Given the description of an element on the screen output the (x, y) to click on. 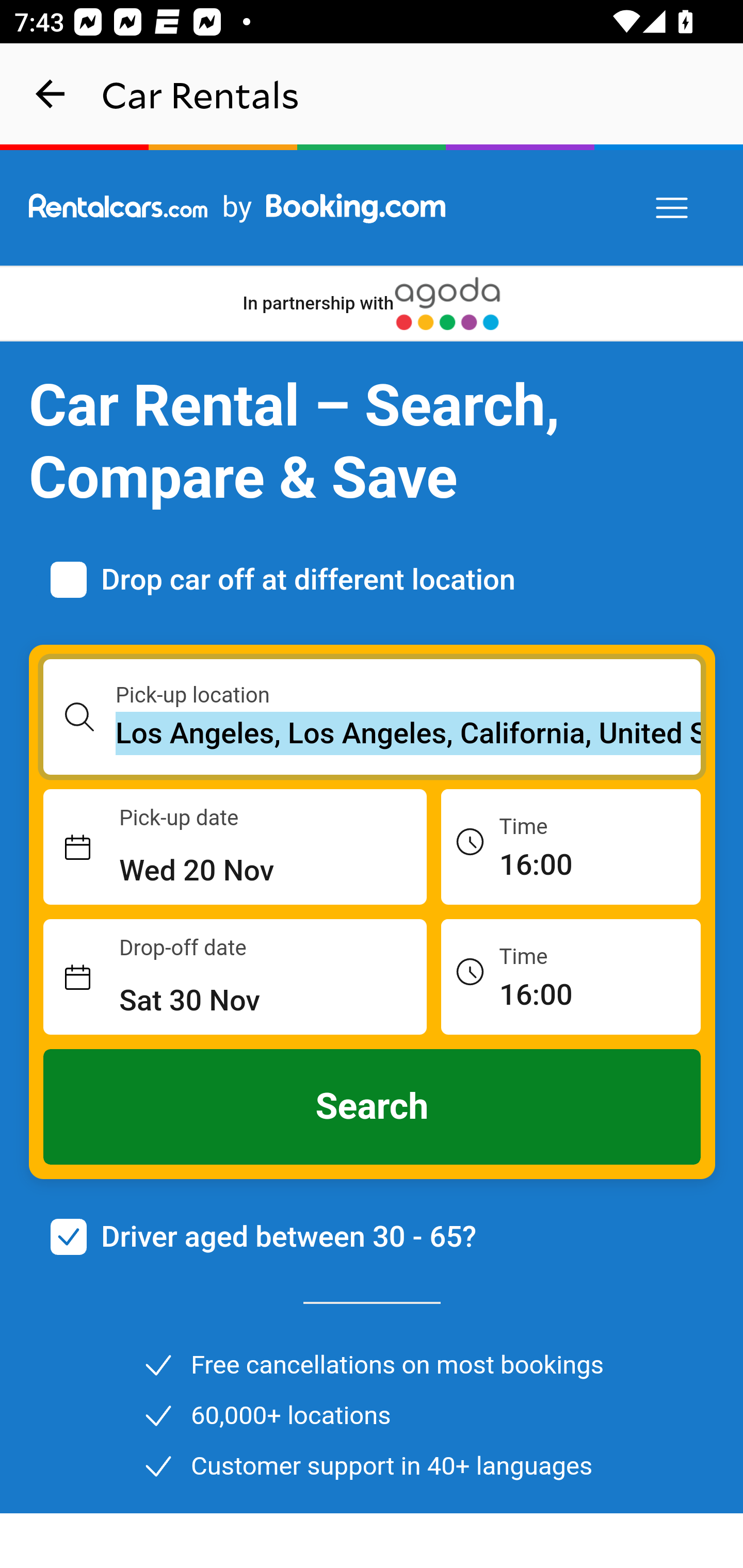
navigation_button (50, 93)
Menu (672, 208)
Pick-up date Wed 20 Nov (235, 847)
16:00 (571, 845)
Drop-off date Sat 30 Nov (235, 977)
16:00 (571, 975)
Search (372, 1106)
